Given the description of an element on the screen output the (x, y) to click on. 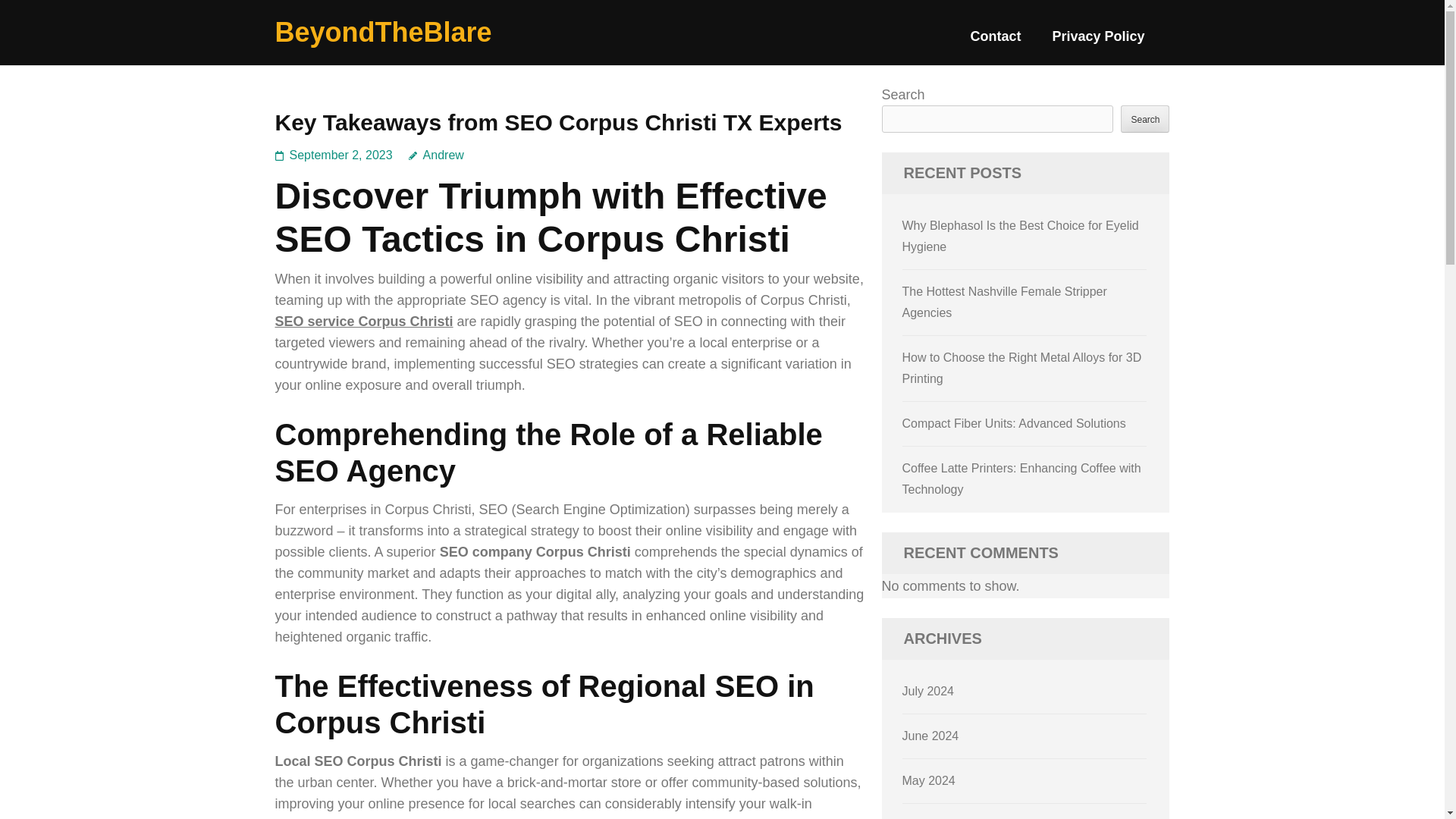
July 2024 (928, 690)
Coffee Latte Printers: Enhancing Coffee with Technology (1021, 478)
Why Blephasol Is the Best Choice for Eyelid Hygiene (1020, 236)
BeyondTheBlare (383, 31)
Compact Fiber Units: Advanced Solutions (1013, 422)
September 2, 2023 (341, 154)
Andrew (436, 154)
SEO service Corpus Christi (363, 321)
The Hottest Nashville Female Stripper Agencies (1004, 302)
How to Choose the Right Metal Alloys for 3D Printing (1021, 367)
Privacy Policy (1097, 42)
May 2024 (928, 780)
Contact (994, 42)
June 2024 (930, 735)
Search (1145, 118)
